Given the description of an element on the screen output the (x, y) to click on. 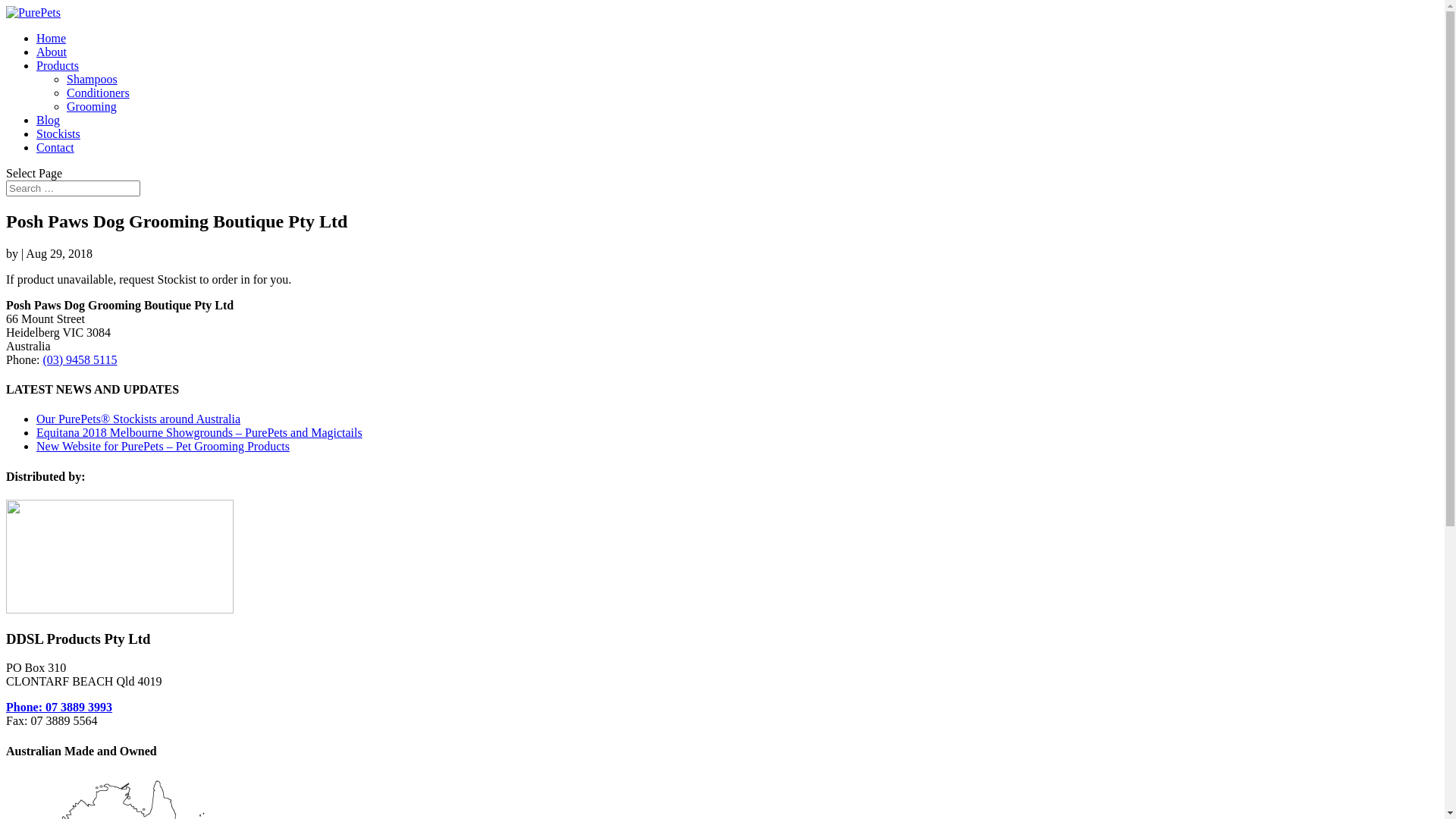
Grooming Element type: text (91, 106)
Home Element type: text (50, 37)
Phone: 07 3889 3993 Element type: text (59, 706)
Search for: Element type: hover (73, 188)
(03) 9458 5115 Element type: text (79, 359)
Products Element type: text (57, 65)
Contact Element type: text (55, 147)
Stockists Element type: text (58, 133)
Blog Element type: text (47, 119)
Conditioners Element type: text (97, 92)
Shampoos Element type: text (91, 78)
About Element type: text (51, 51)
